Given the description of an element on the screen output the (x, y) to click on. 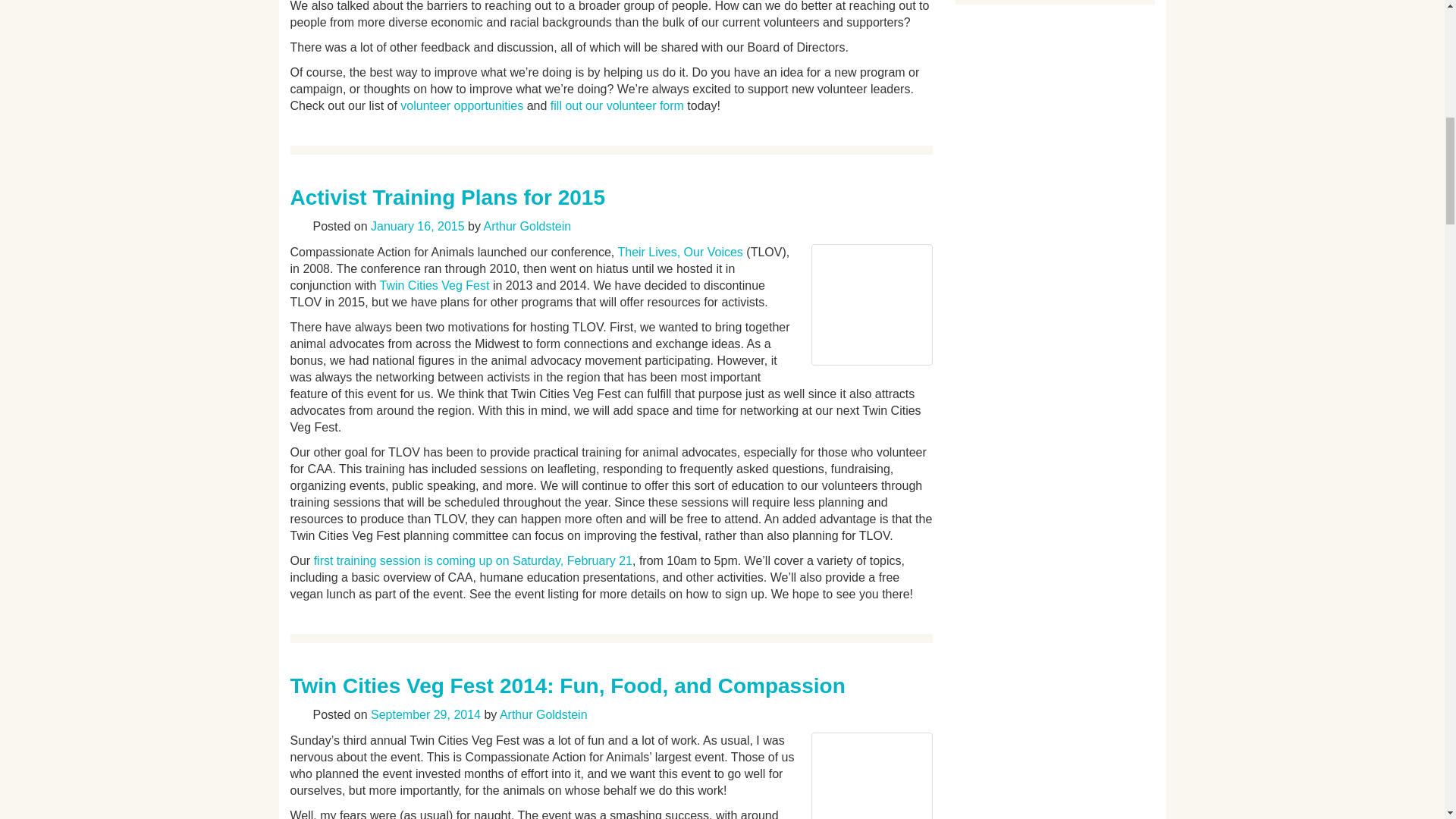
Arthur Goldstein (543, 714)
11:50 am (417, 226)
January 16, 2015 (417, 226)
fill out our volunteer form (617, 105)
volunteer opportunities (461, 105)
Volunteer with CAA (461, 105)
Activist Training Plans for 2015 (446, 197)
Their Lives, Our Voices (679, 251)
first training session is coming up on Saturday, February 21 (472, 560)
September 29, 2014 (425, 714)
